Given the description of an element on the screen output the (x, y) to click on. 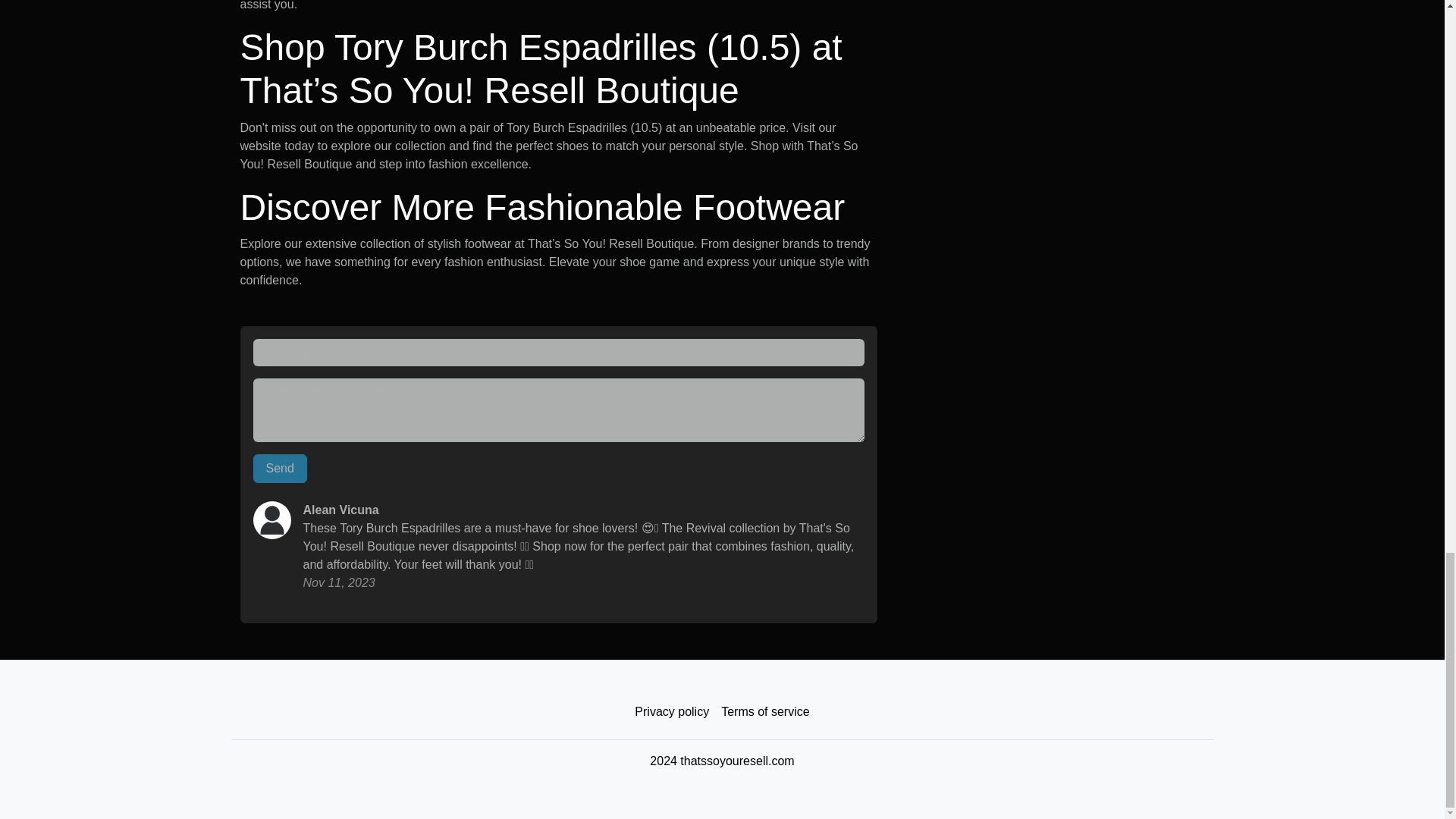
Send (280, 468)
Send (280, 468)
Terms of service (764, 711)
Privacy policy (671, 711)
